Given the description of an element on the screen output the (x, y) to click on. 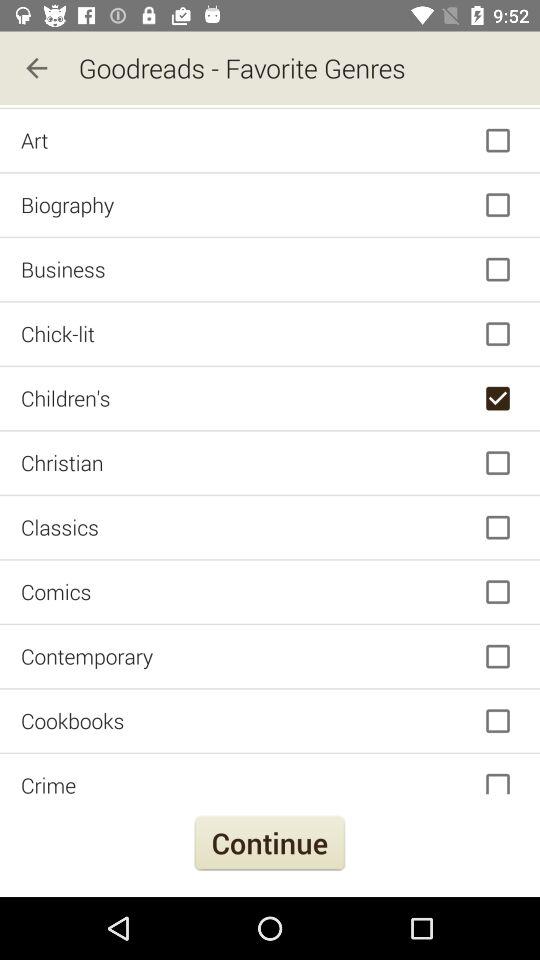
choose art (270, 140)
